Given the description of an element on the screen output the (x, y) to click on. 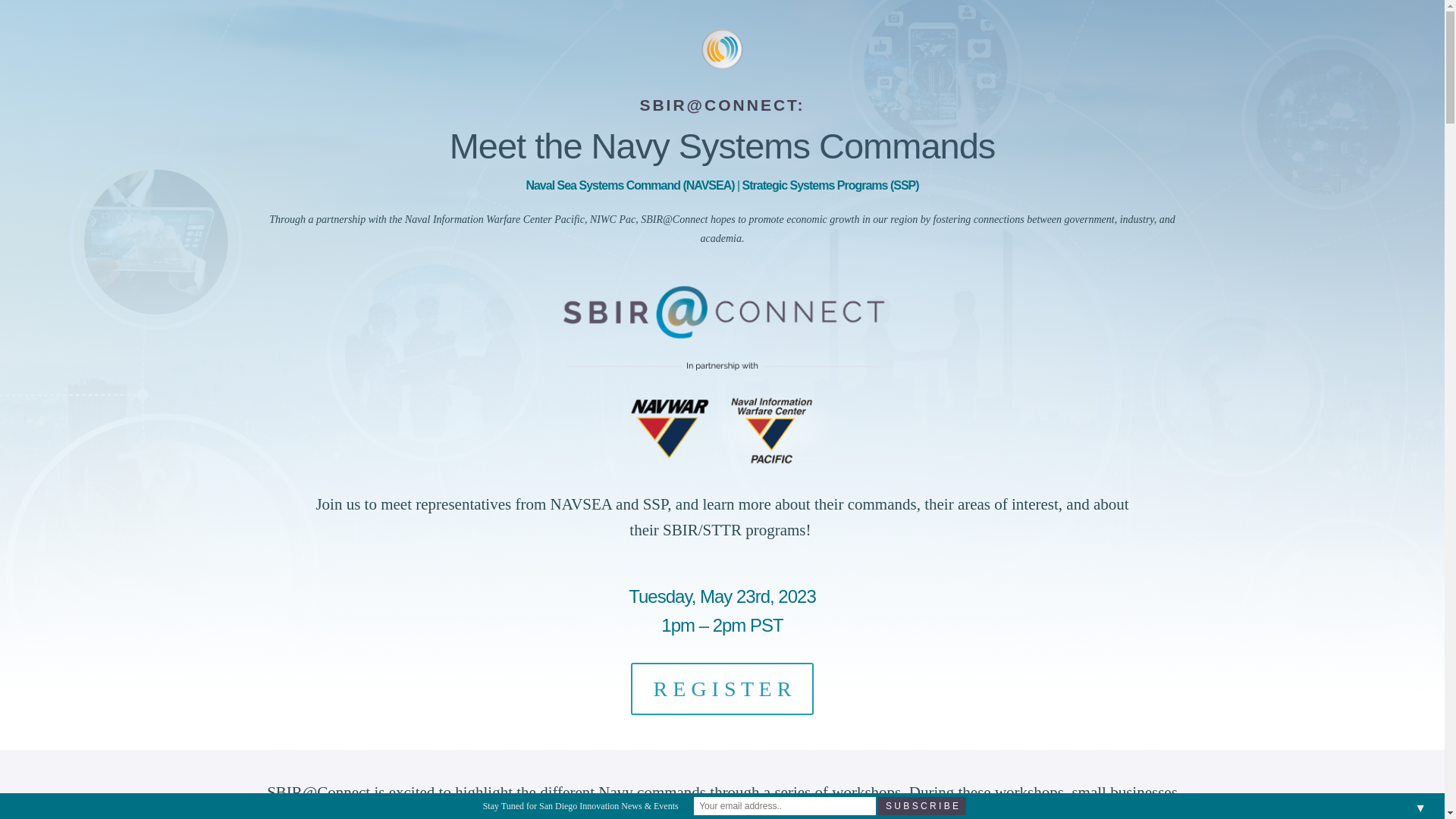
R E G I S T E R (721, 688)
 S U B S C R I B E  (921, 805)
